Given the description of an element on the screen output the (x, y) to click on. 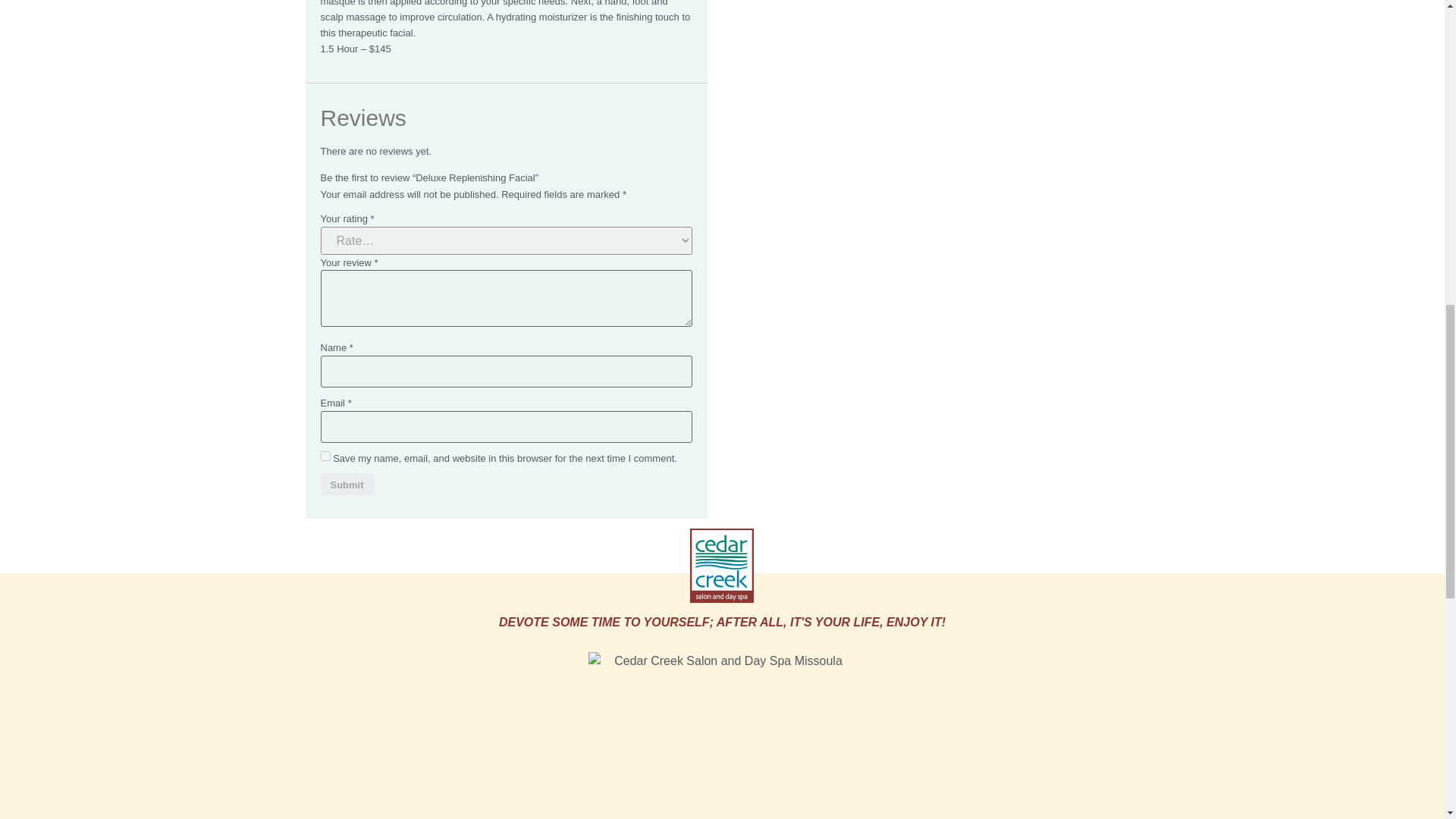
Submit (346, 484)
yes (325, 456)
